Given the description of an element on the screen output the (x, y) to click on. 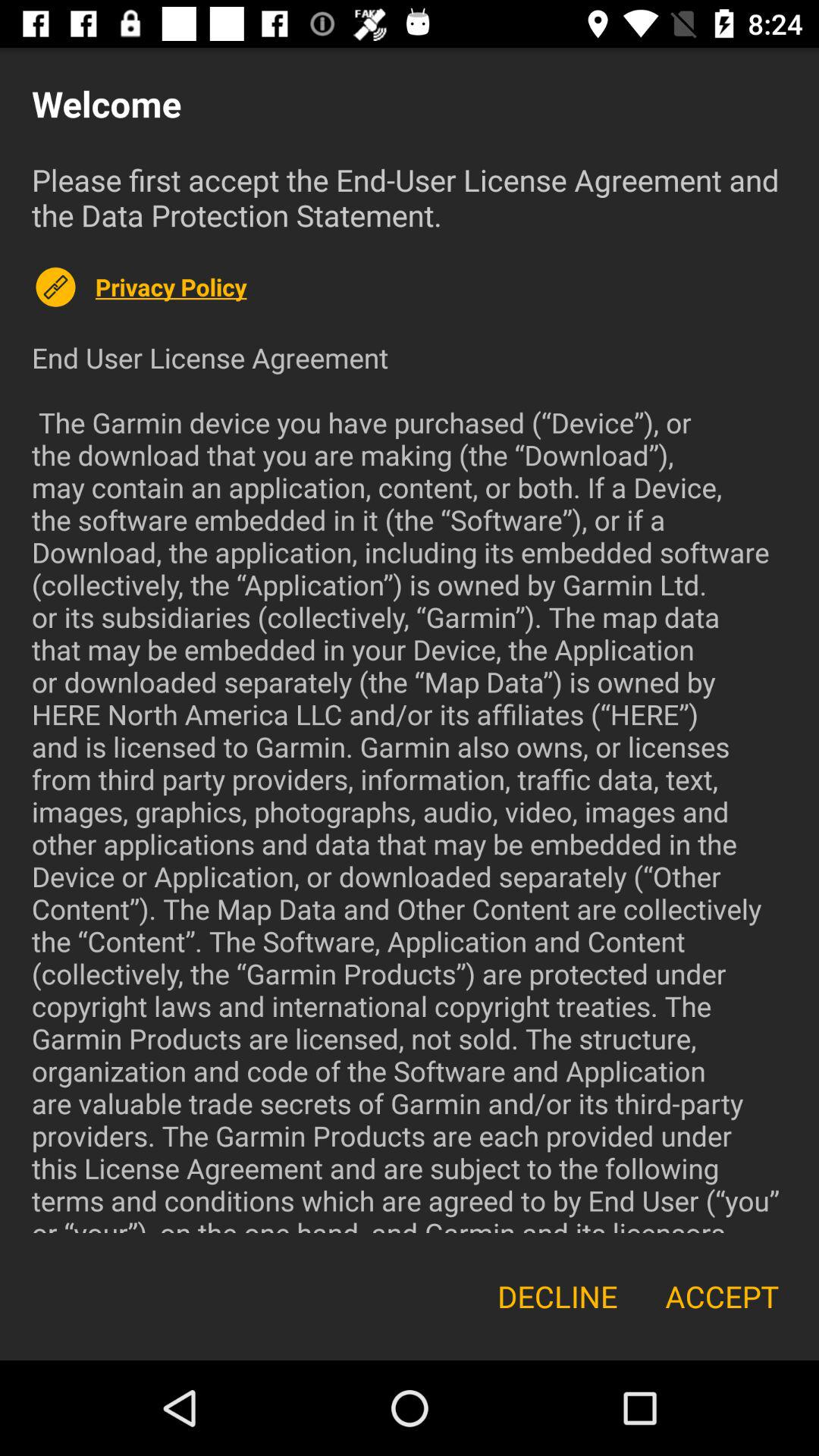
tap icon below please first accept (441, 286)
